Given the description of an element on the screen output the (x, y) to click on. 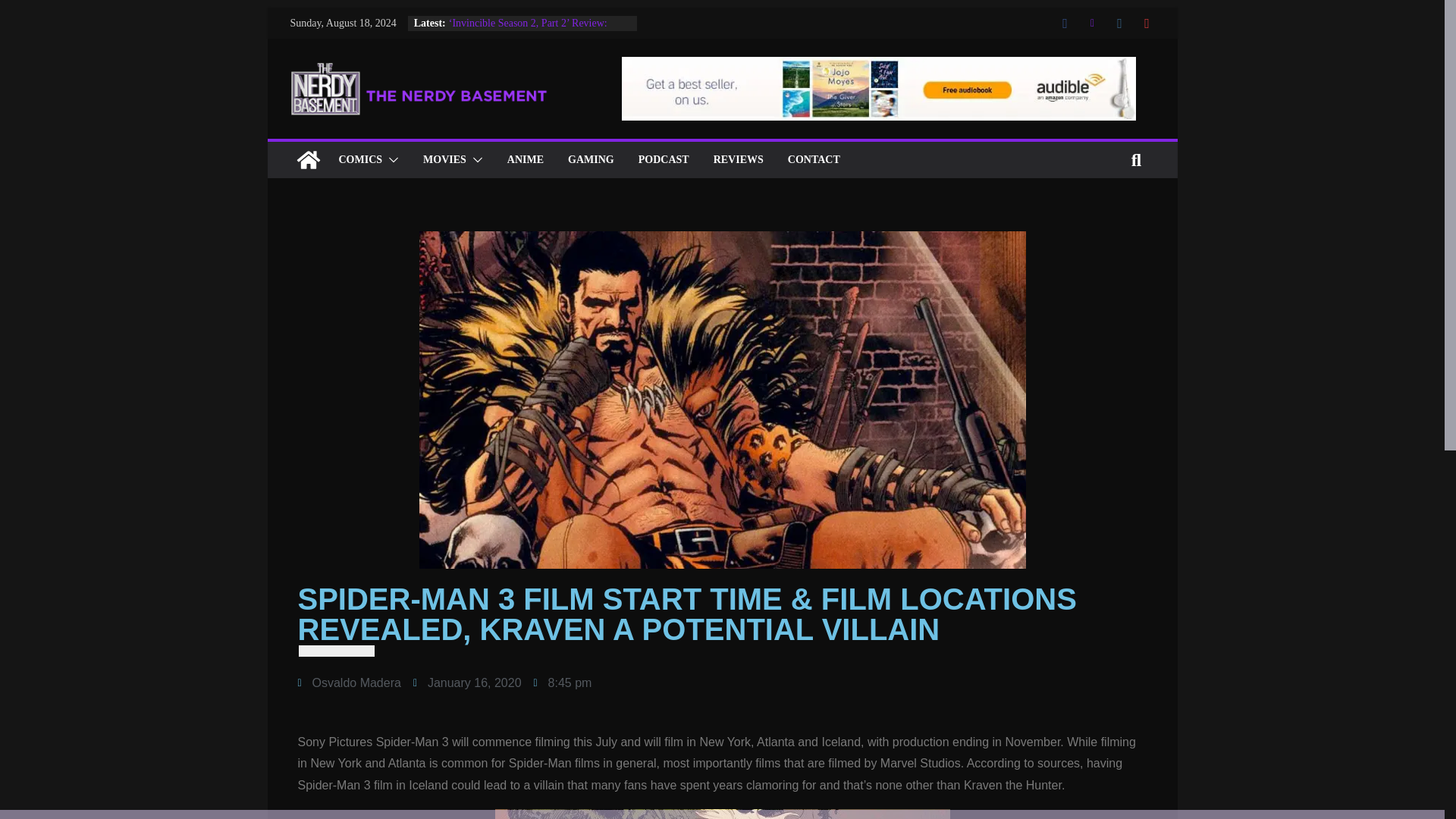
ANIME (524, 159)
The Nerdy Basement (307, 159)
REVIEWS (737, 159)
COMICS (359, 159)
January 16, 2020 (467, 683)
PODCAST (663, 159)
CONTACT (813, 159)
MOVIES (444, 159)
Osvaldo Madera (348, 683)
GAMING (590, 159)
